Given the description of an element on the screen output the (x, y) to click on. 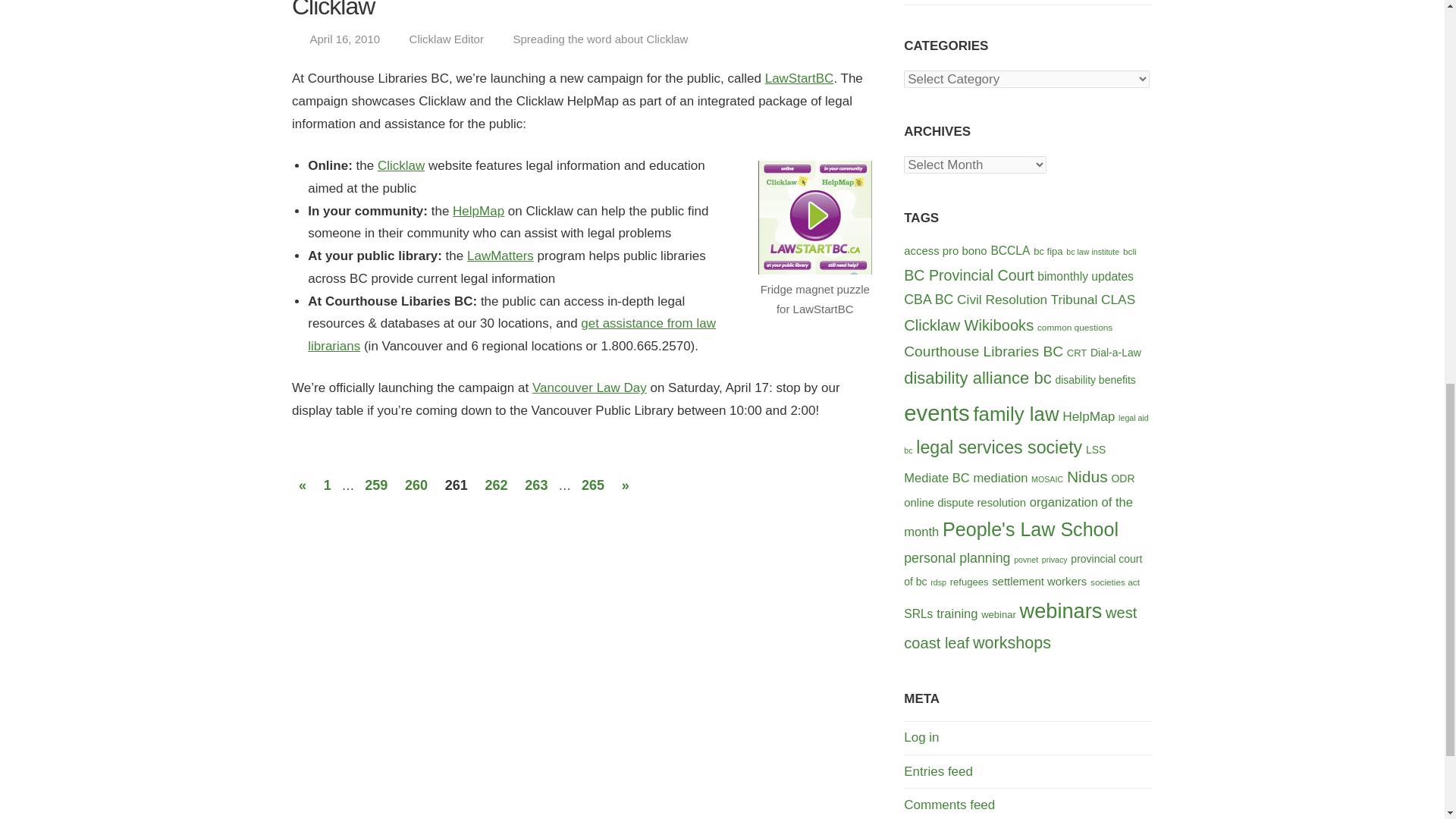
2:21 pm (344, 38)
LawStartBC (799, 78)
View all posts by Clicklaw Editor (446, 38)
260 (415, 485)
HelpMap (477, 210)
262 (497, 485)
263 (536, 485)
Spreading the word about Clicklaw (599, 38)
Vancouver Law Day (589, 387)
lawstartmagneticpuzzle (815, 217)
